Given the description of an element on the screen output the (x, y) to click on. 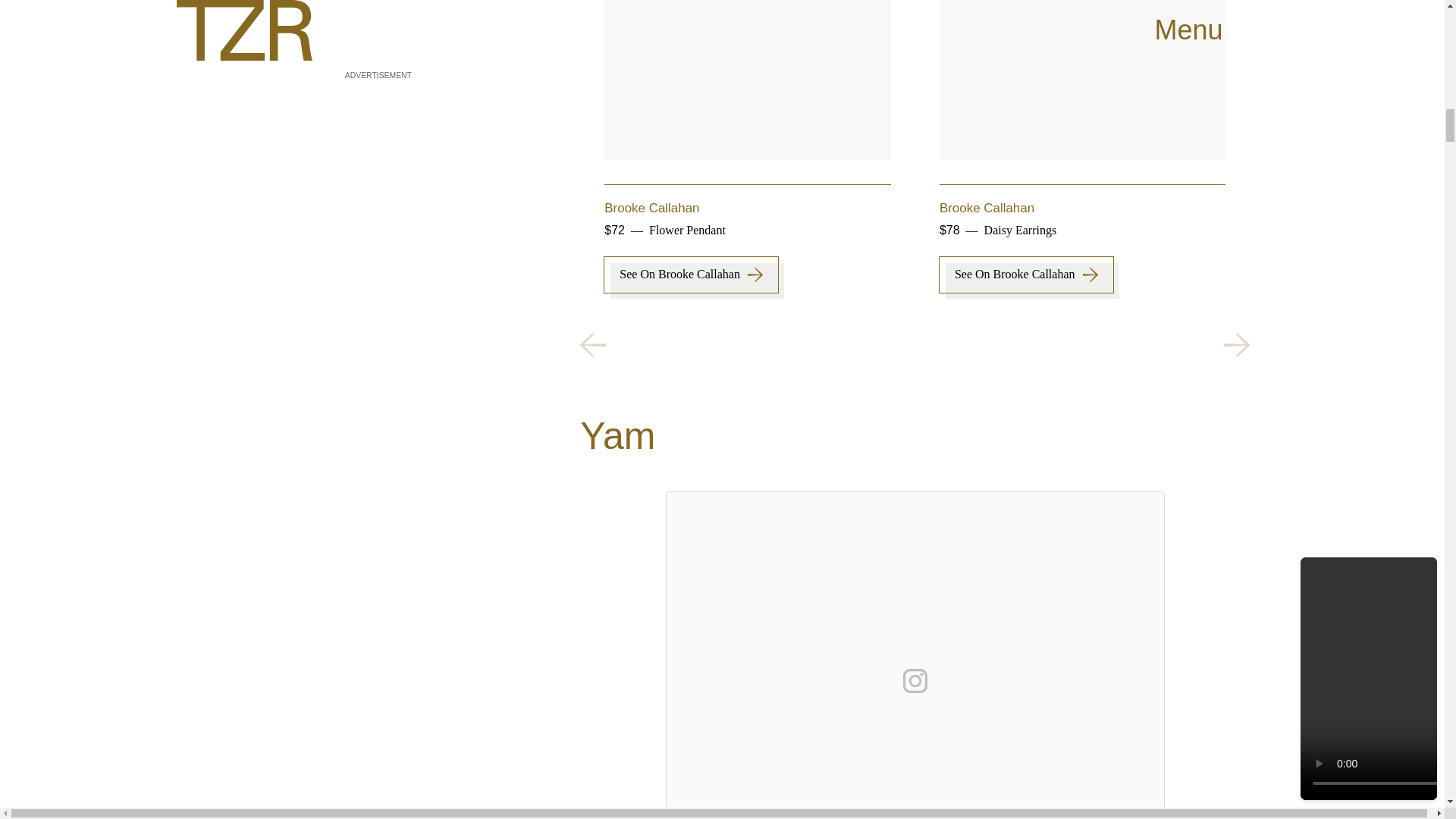
See On Brooke Callahan (1360, 284)
Next page (1236, 344)
Previous page (592, 344)
See On Brooke Callahan (1026, 274)
See On Brooke Callahan (690, 274)
View on Instagram (914, 680)
